Given the description of an element on the screen output the (x, y) to click on. 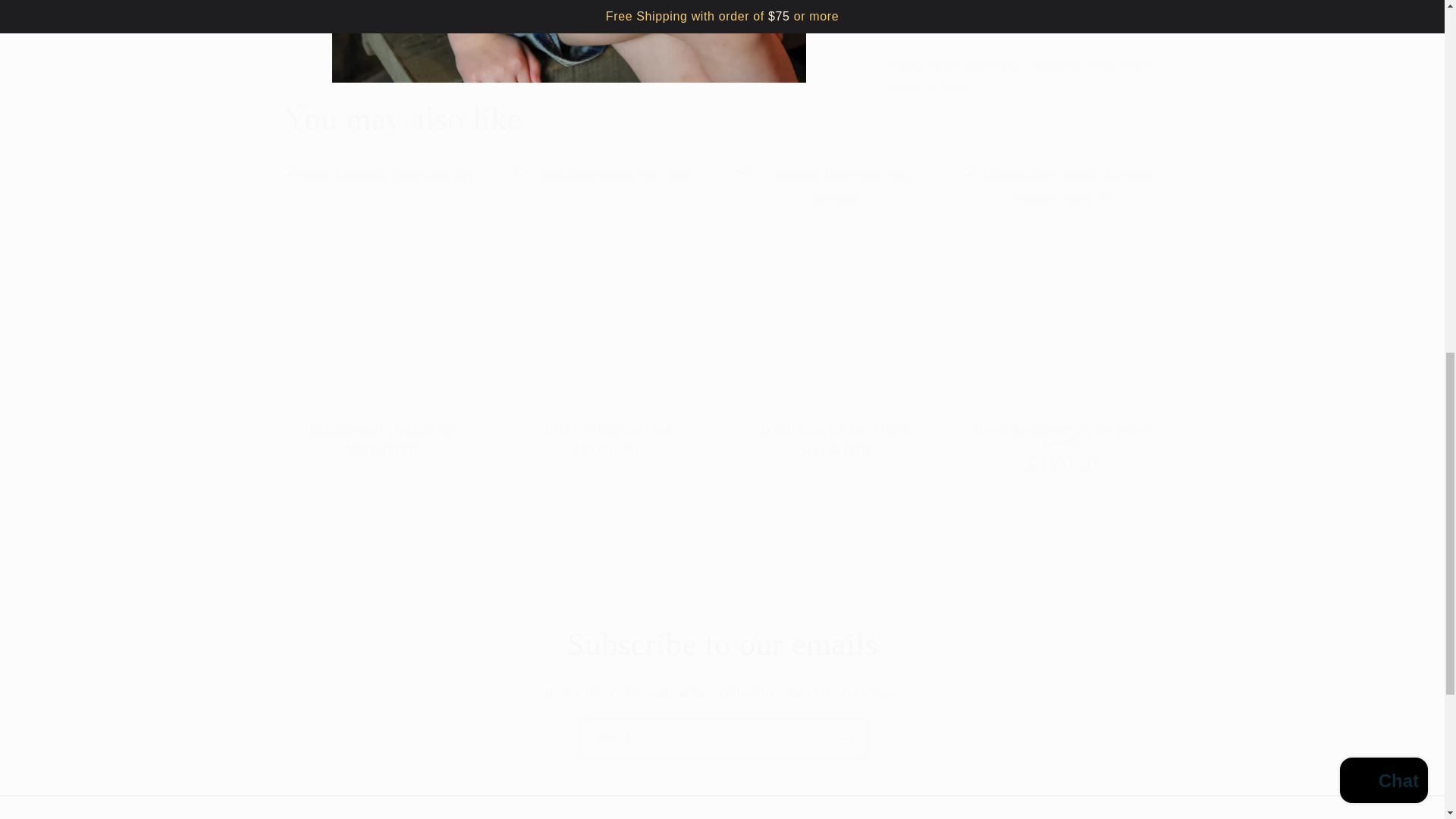
Email (722, 737)
Subscribe to our emails (722, 644)
Open media 1 in modal (568, 28)
